Given the description of an element on the screen output the (x, y) to click on. 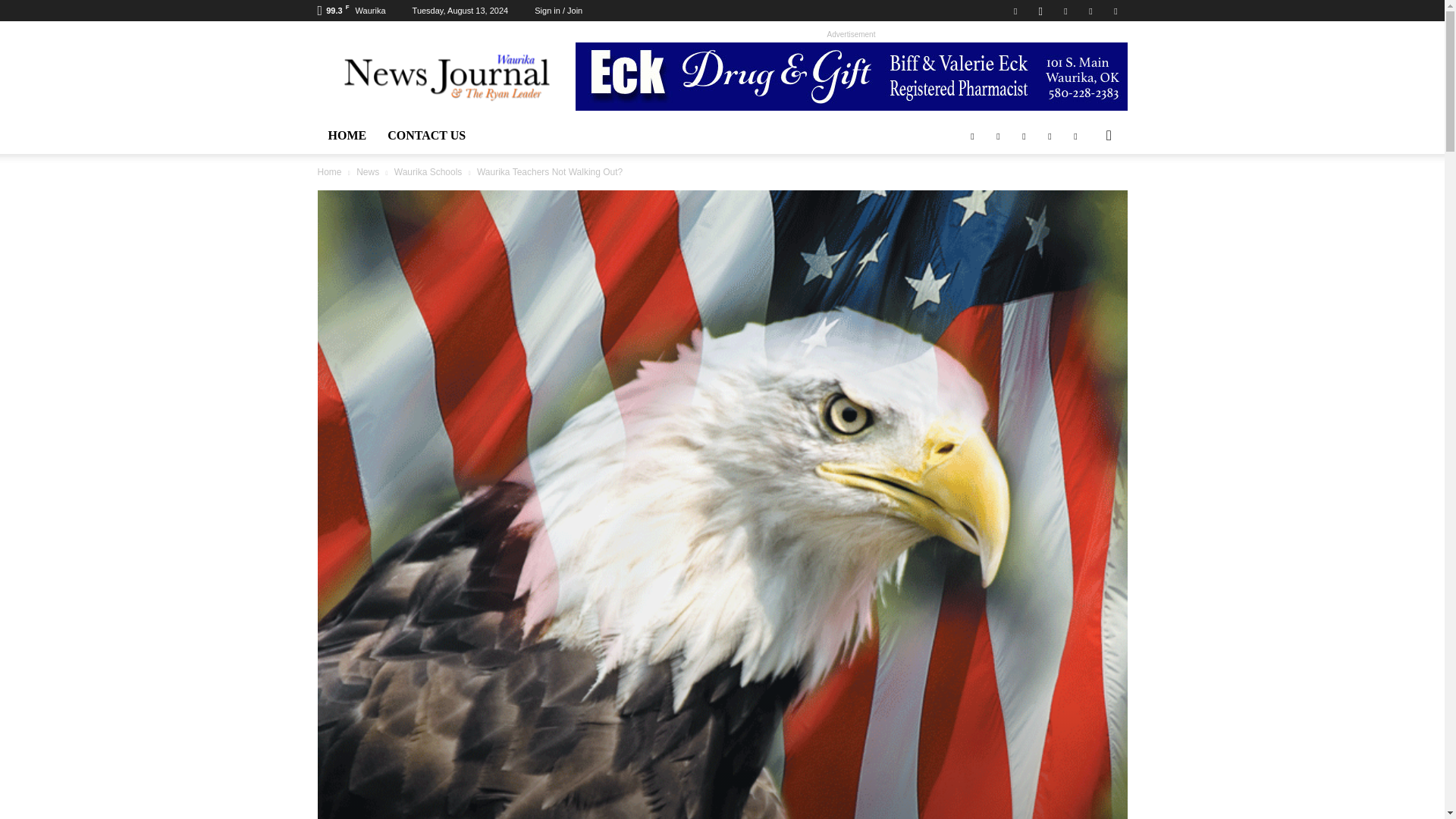
Facebook (1015, 10)
News (367, 172)
CONTACT US (426, 135)
Waurika Schools (428, 172)
View all posts in News (367, 172)
Search (1085, 196)
Twitter (1065, 10)
View all posts in Waurika Schools (428, 172)
Vimeo (1090, 10)
Instagram (1040, 10)
